Given the description of an element on the screen output the (x, y) to click on. 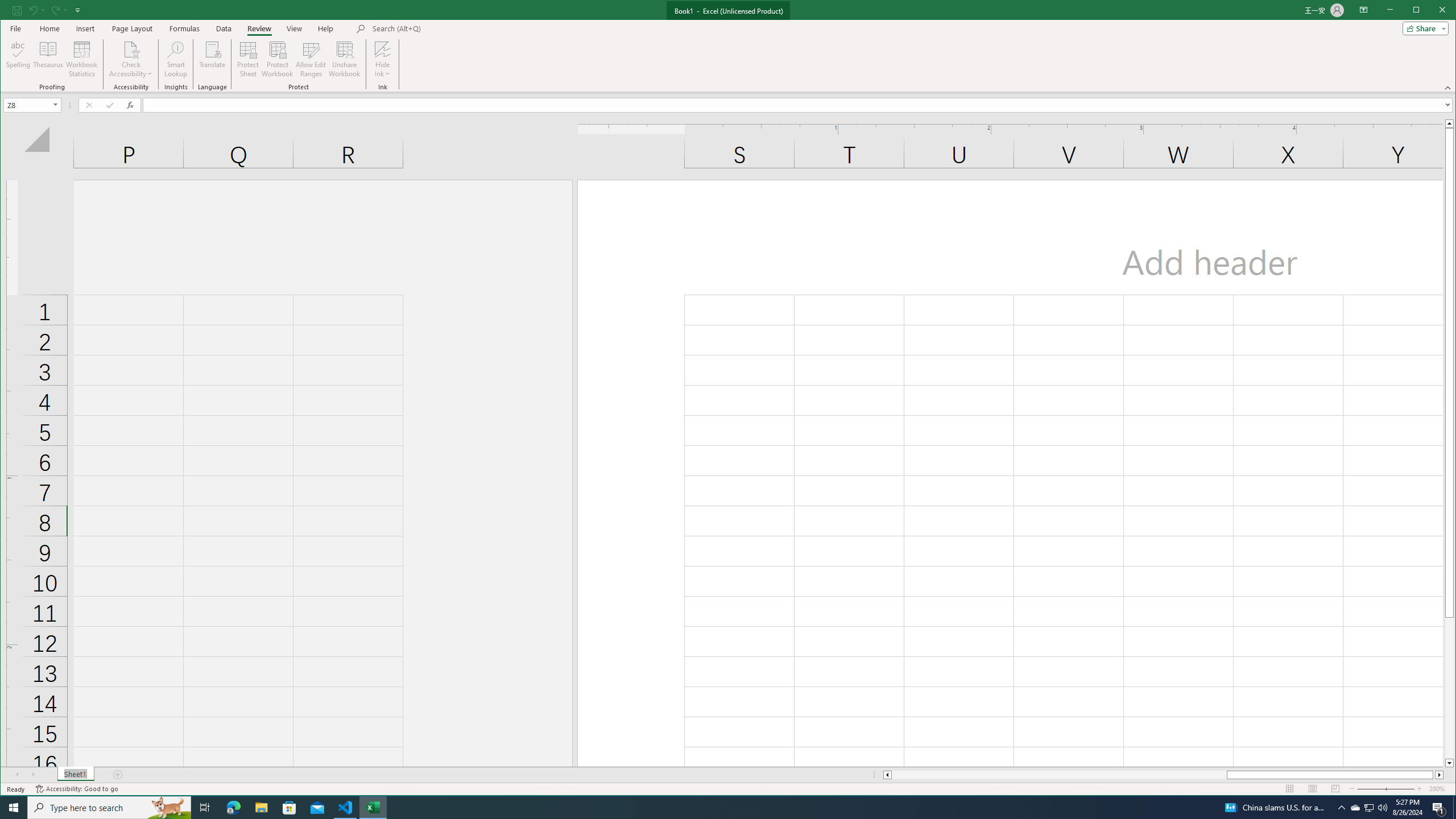
Translate (212, 59)
Running applications (717, 807)
